Given the description of an element on the screen output the (x, y) to click on. 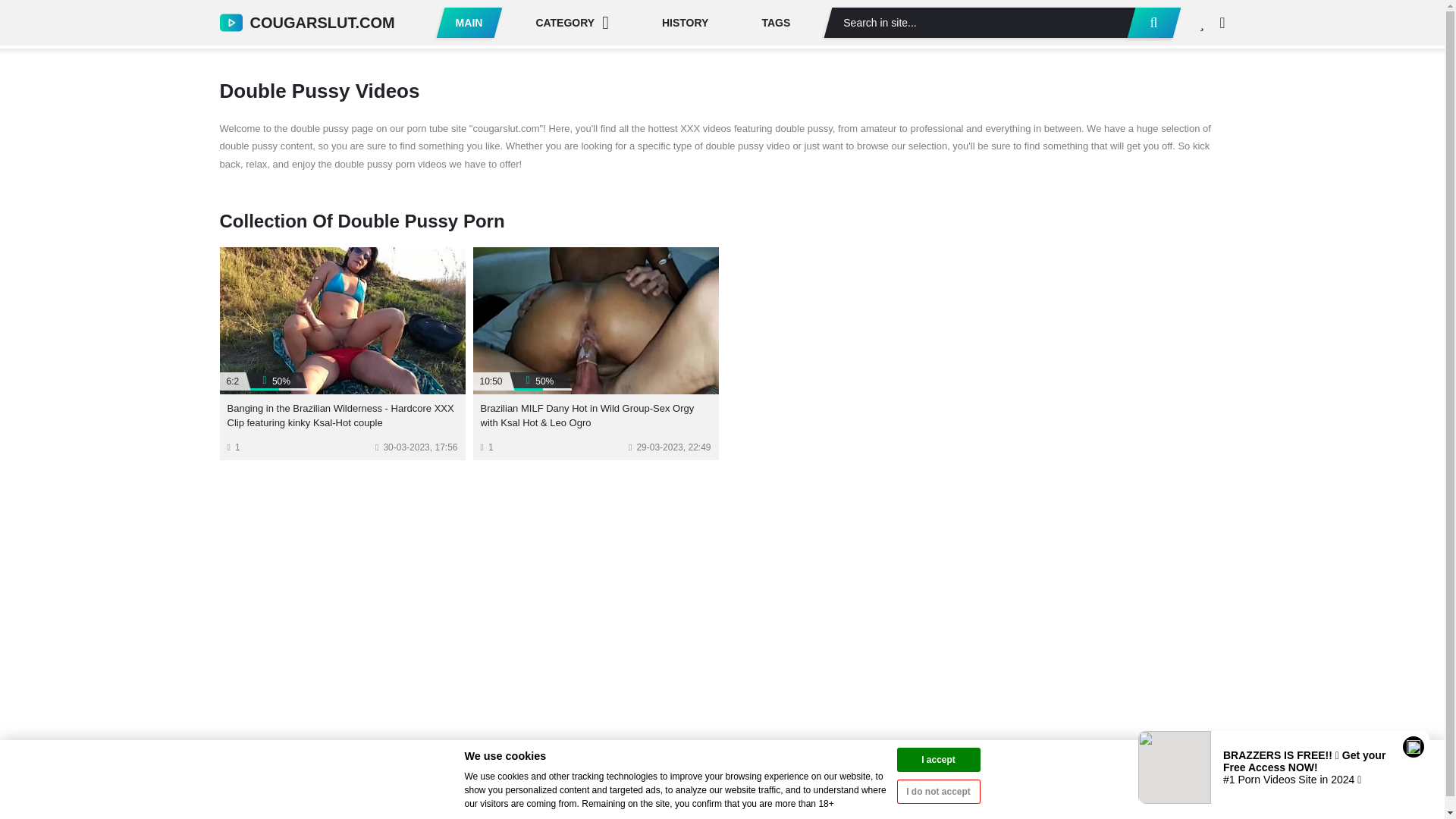
COUGARSLUT.COM (306, 22)
milf porn (306, 22)
MAIN (469, 22)
CATEGORY (571, 22)
